Given the description of an element on the screen output the (x, y) to click on. 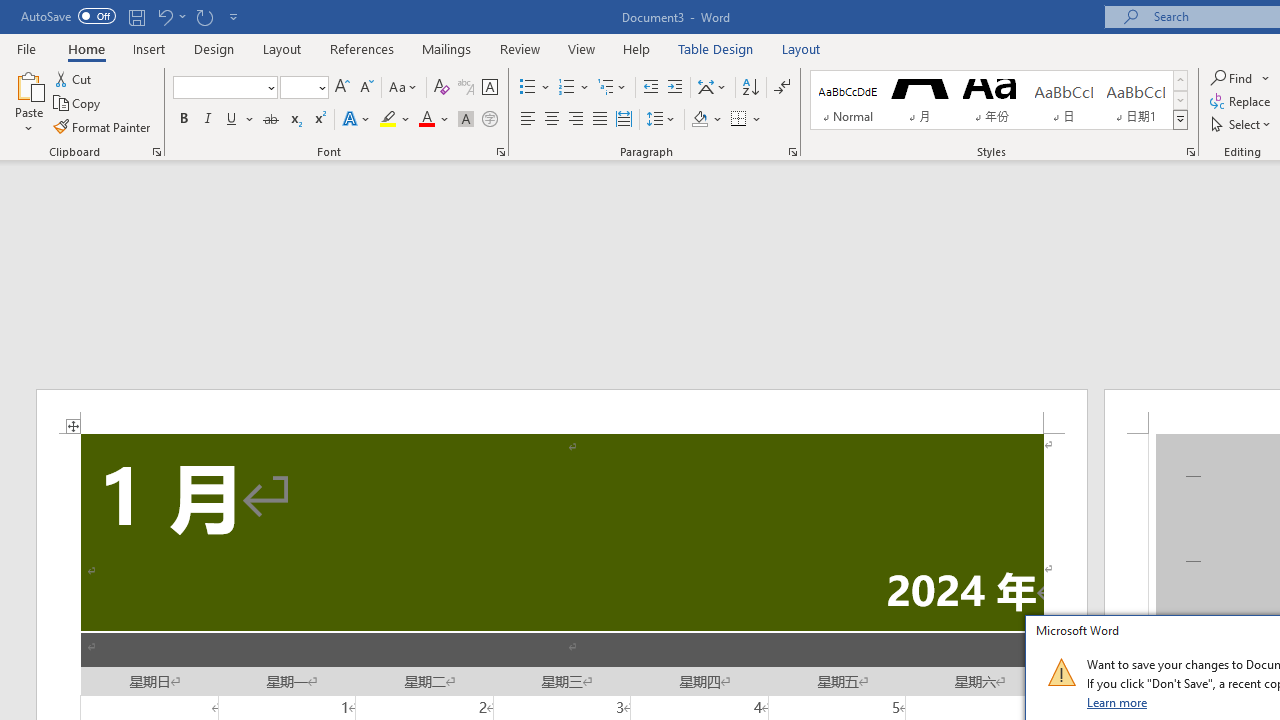
Repeat Copy (204, 15)
